Given the description of an element on the screen output the (x, y) to click on. 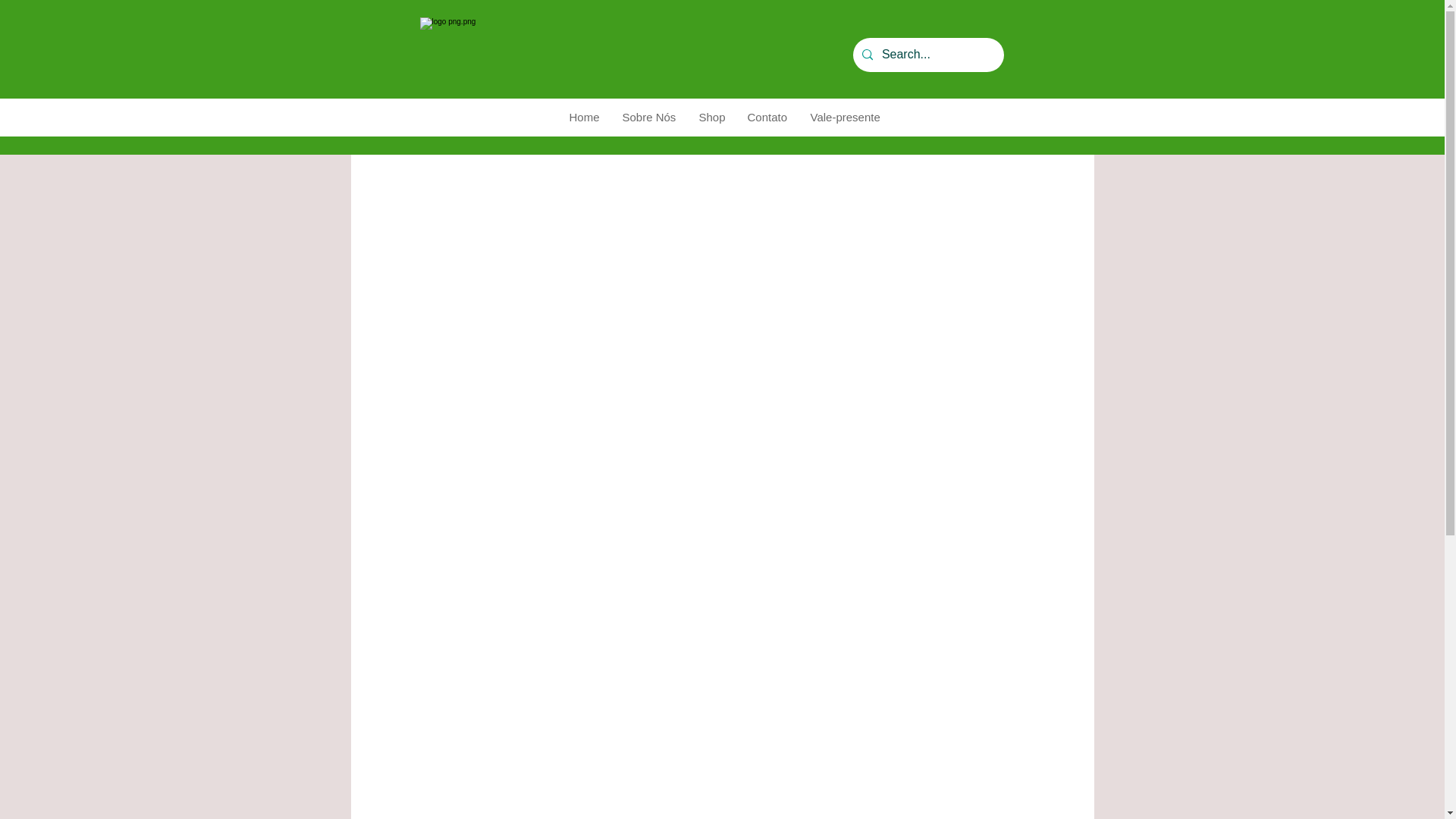
Embedded Content (1056, 167)
Contato (766, 117)
Home (583, 117)
Shop (711, 117)
Vale-presente (841, 117)
